Given the description of an element on the screen output the (x, y) to click on. 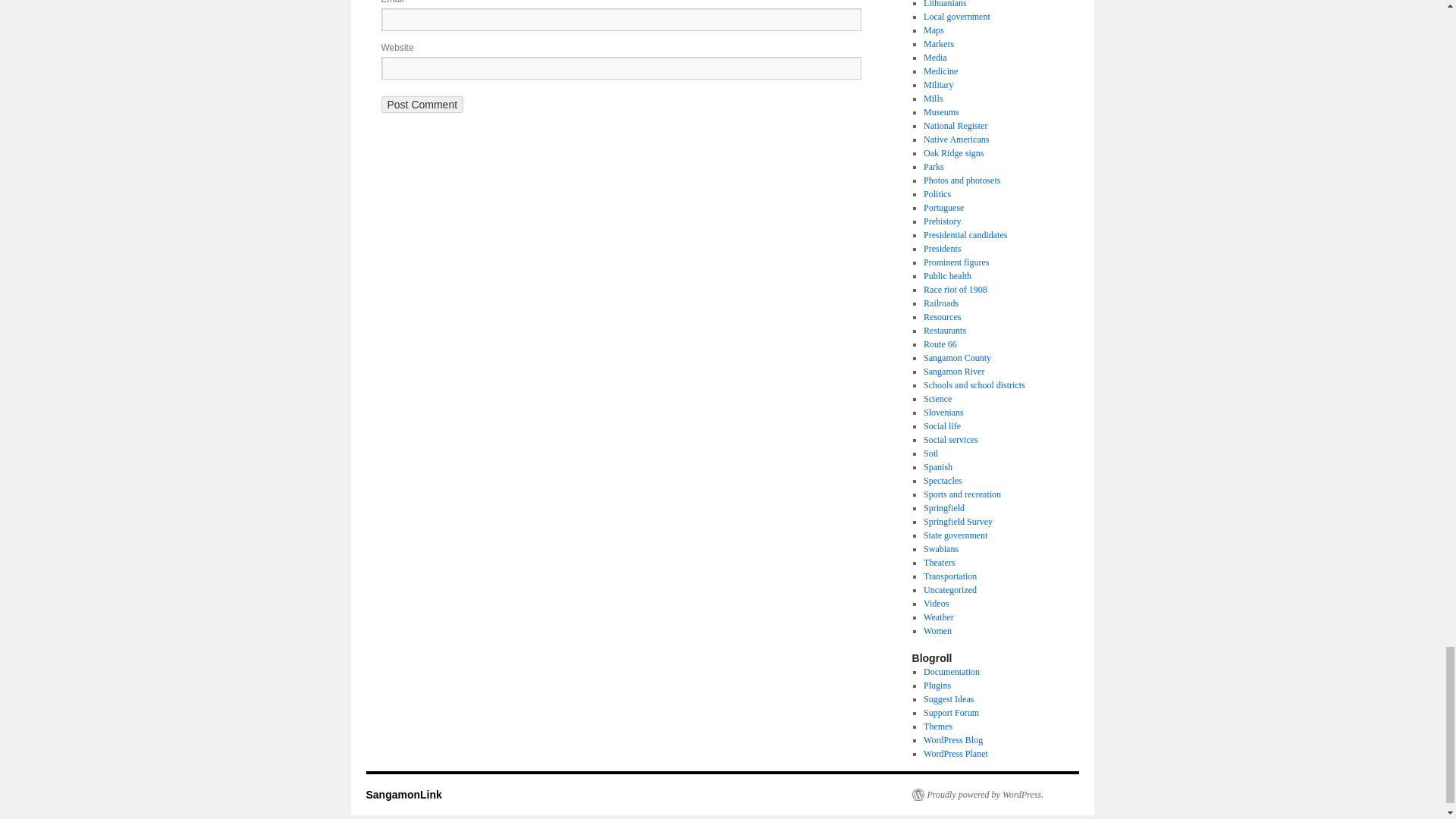
Post Comment (421, 104)
Post Comment (421, 104)
Semantic Personal Publishing Platform (977, 794)
